Given the description of an element on the screen output the (x, y) to click on. 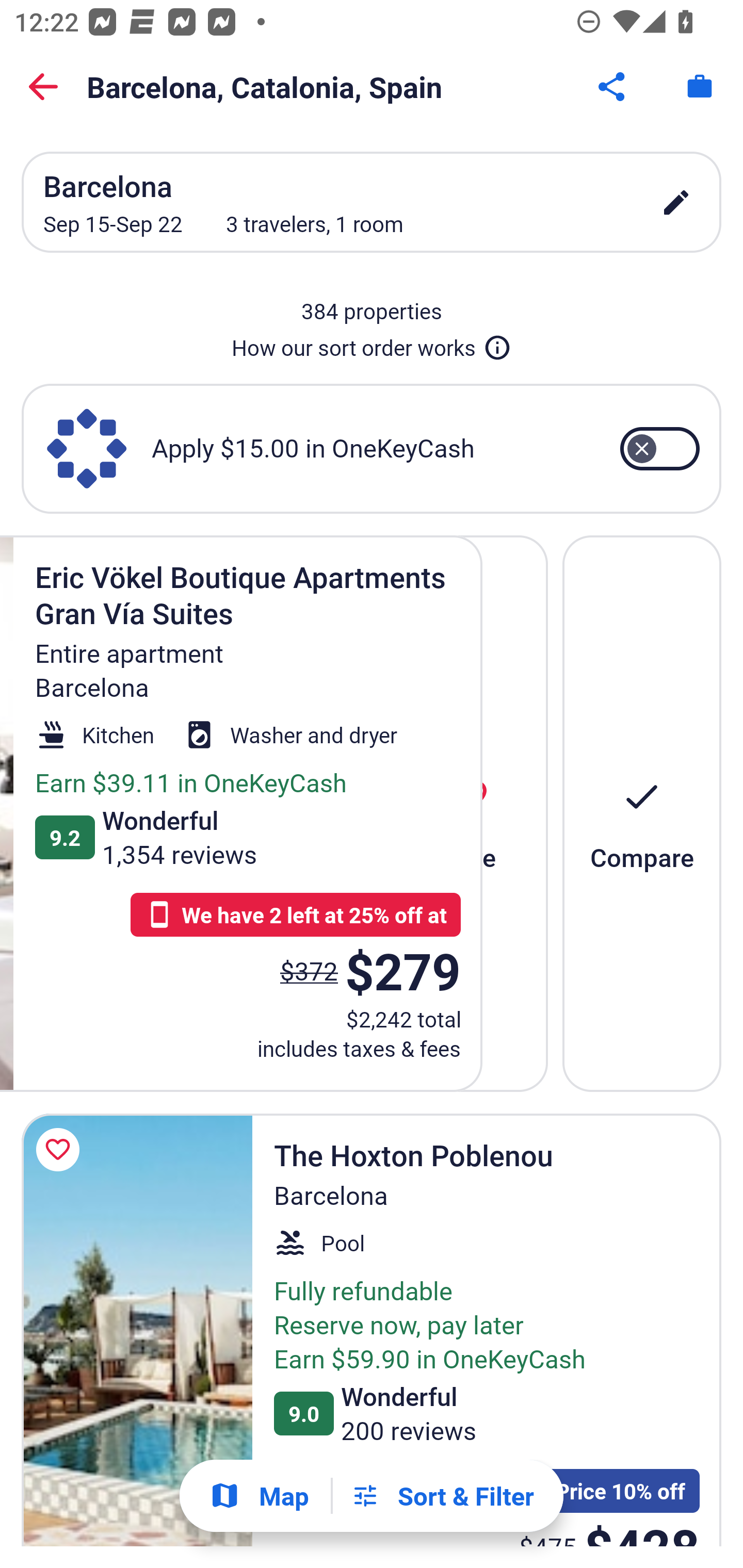
Back (43, 86)
Share Button (612, 86)
Trips. Button (699, 86)
Barcelona Sep 15-Sep 22 3 travelers, 1 room edit (371, 202)
How our sort order works (371, 344)
Compare (641, 812)
$372 The price was $372 (308, 970)
Save The Hoxton Poblenou to a trip (61, 1150)
The Hoxton Poblenou (136, 1329)
Filters Sort & Filter Filters Button (442, 1495)
Show map Map Show map Button (258, 1495)
